Given the description of an element on the screen output the (x, y) to click on. 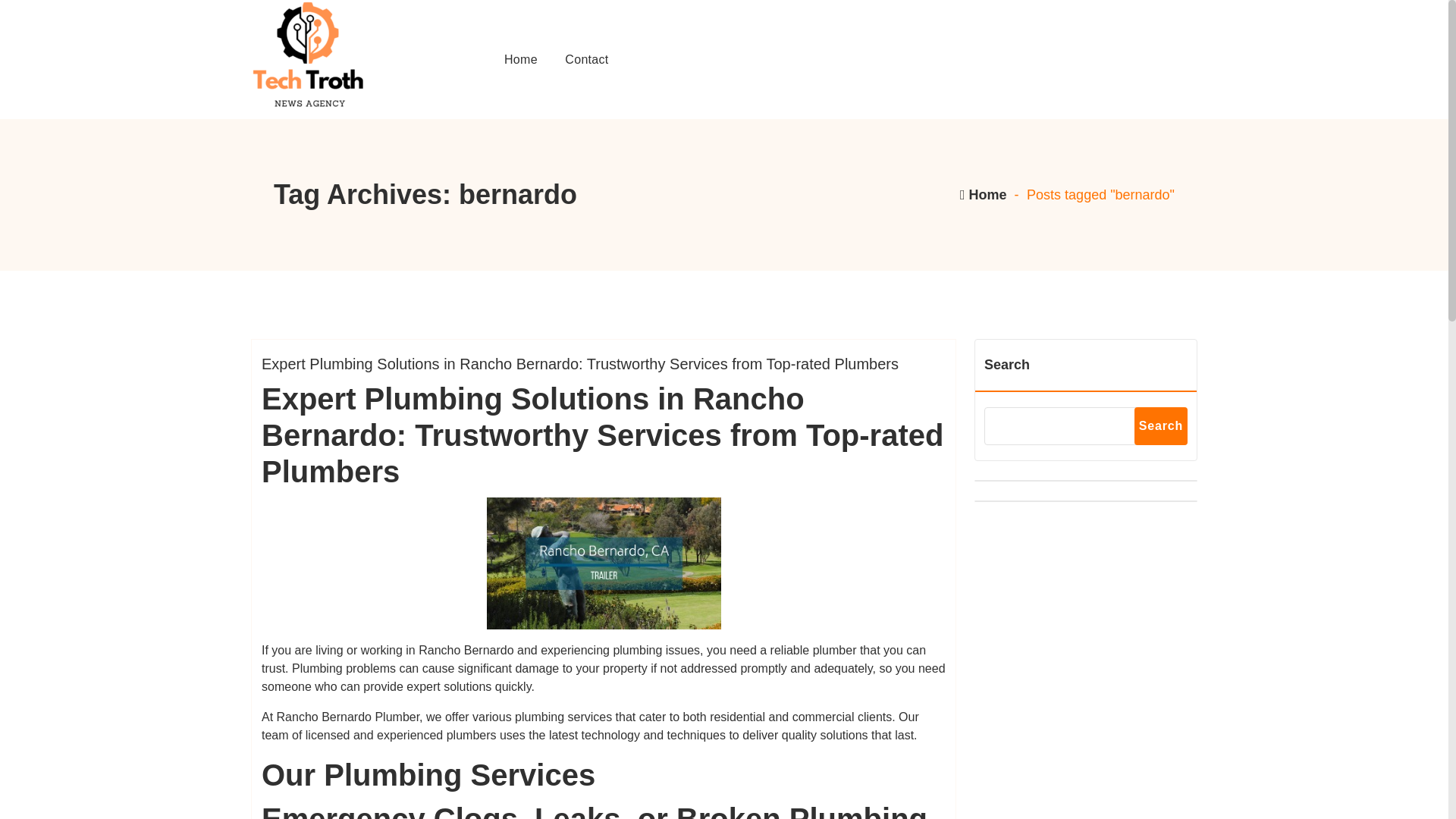
Contact (586, 59)
Home (521, 59)
Home (982, 193)
Contact (586, 59)
Search (1161, 426)
Home (521, 59)
